Given the description of an element on the screen output the (x, y) to click on. 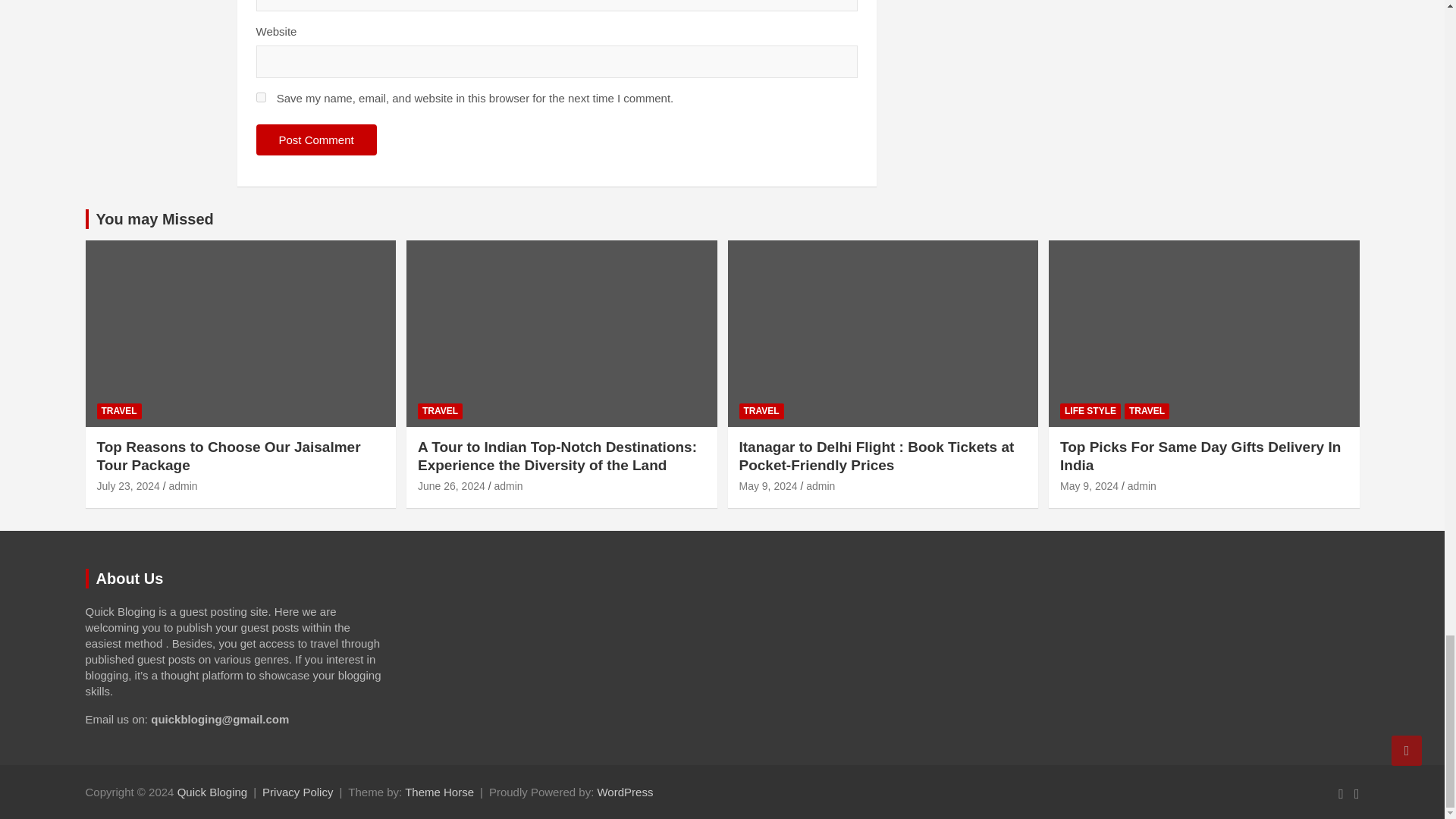
Post Comment (316, 139)
yes (261, 97)
WordPress (624, 791)
Top Picks For Same Day Gifts Delivery In India (1088, 485)
Post Comment (316, 139)
Theme Horse (439, 791)
Top Reasons to Choose Our Jaisalmer Tour Package (128, 485)
Quick Bloging (212, 791)
